Given the description of an element on the screen output the (x, y) to click on. 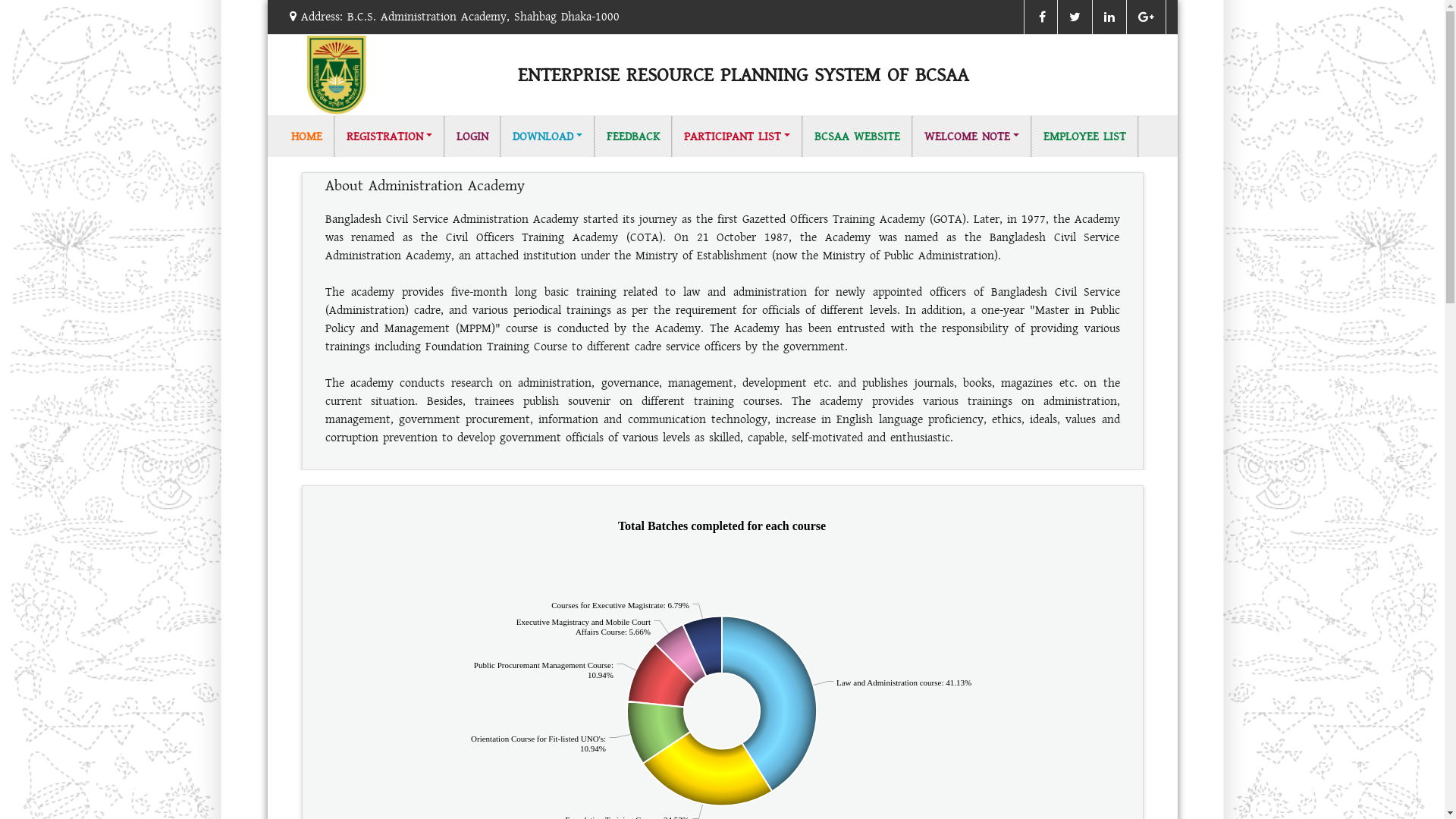
FEEDBACK Element type: text (633, 135)
DOWNLOAD Element type: text (547, 135)
WELCOME NOTE Element type: text (972, 135)
LOGIN Element type: text (472, 135)
REGISTRATION Element type: text (389, 135)
EMPLOYEE LIST Element type: text (1085, 135)
Address: B.C.S. Administration Academy, Shahbag Dhaka-1000 Element type: text (453, 17)
BCSAA WEBSITE Element type: text (857, 135)
PARTICIPANT LIST Element type: text (737, 135)
HOME
(CURRENT) Element type: text (306, 135)
